Given the description of an element on the screen output the (x, y) to click on. 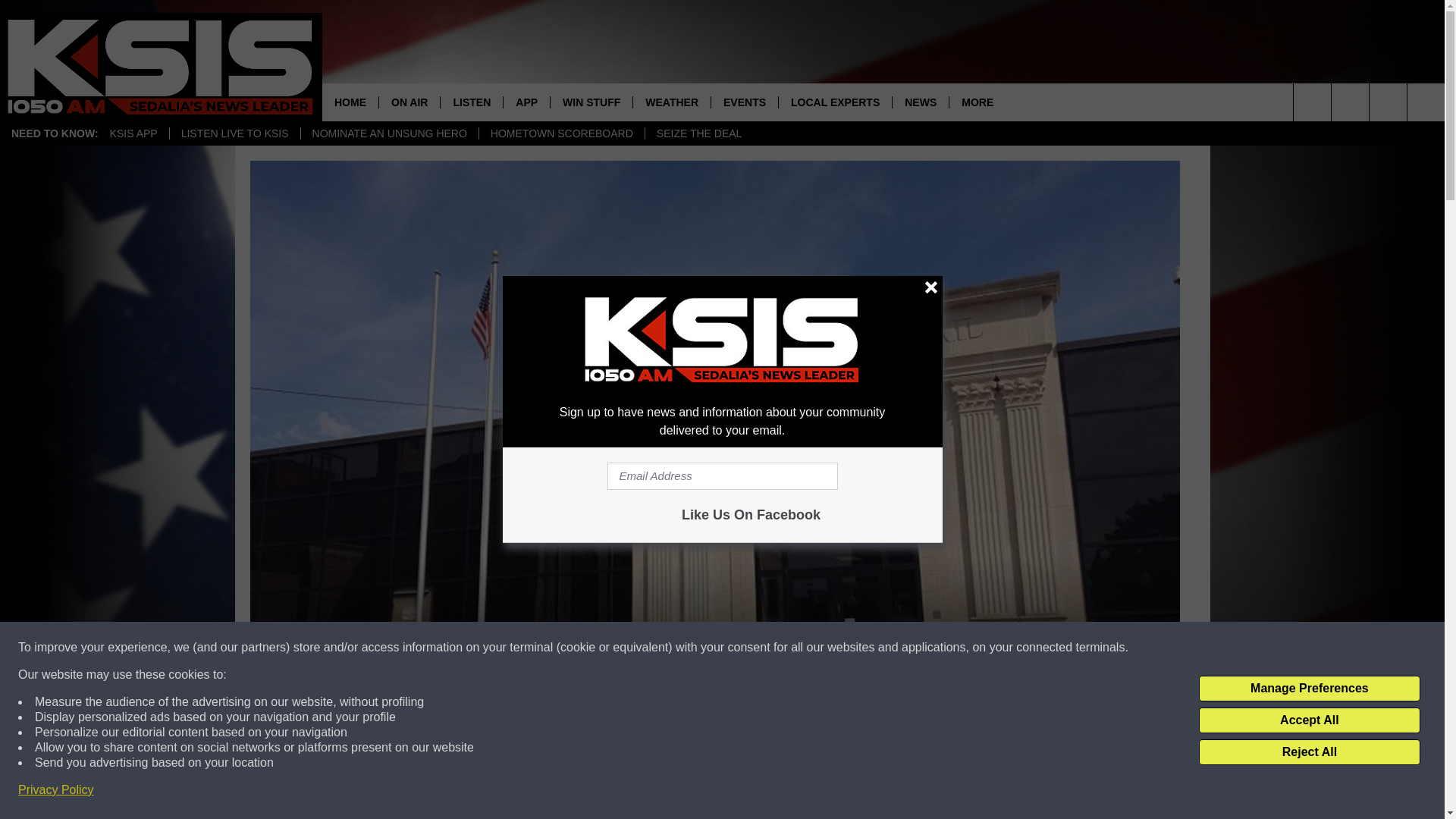
Share on Facebook (517, 791)
EVENTS (743, 102)
NEWS (920, 102)
Accept All (1309, 720)
LISTEN (470, 102)
ON AIR (408, 102)
KSIS APP (133, 133)
Share on Twitter (912, 791)
NOMINATE AN UNSUNG HERO (389, 133)
Manage Preferences (1309, 688)
SEIZE THE DEAL (699, 133)
HOMETOWN SCOREBOARD (562, 133)
LOCAL EXPERTS (834, 102)
Privacy Policy (55, 789)
LISTEN LIVE TO KSIS (233, 133)
